Given the description of an element on the screen output the (x, y) to click on. 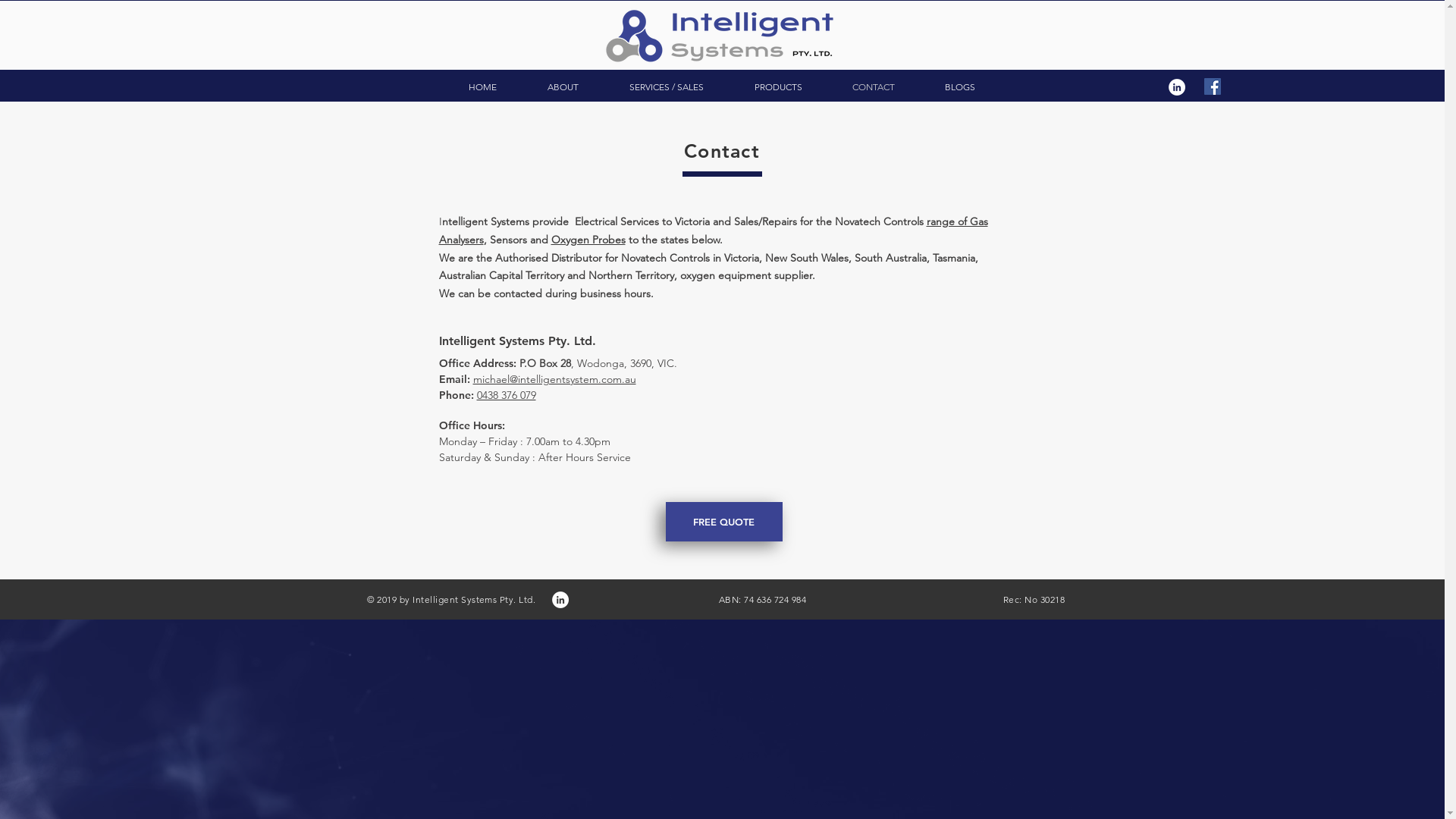
Oxygen Probes Element type: text (587, 239)
SERVICES / SALES Element type: text (665, 86)
BLOGS Element type: text (959, 86)
0438 376 079 Element type: text (505, 394)
range of Gas Analysers Element type: text (712, 230)
HOME Element type: text (481, 86)
PRODUCTS Element type: text (778, 86)
michael@intelligentsystem.com.au Element type: text (554, 378)
FREE QUOTE Element type: text (723, 521)
ABOUT Element type: text (562, 86)
CONTACT Element type: text (872, 86)
